Given the description of an element on the screen output the (x, y) to click on. 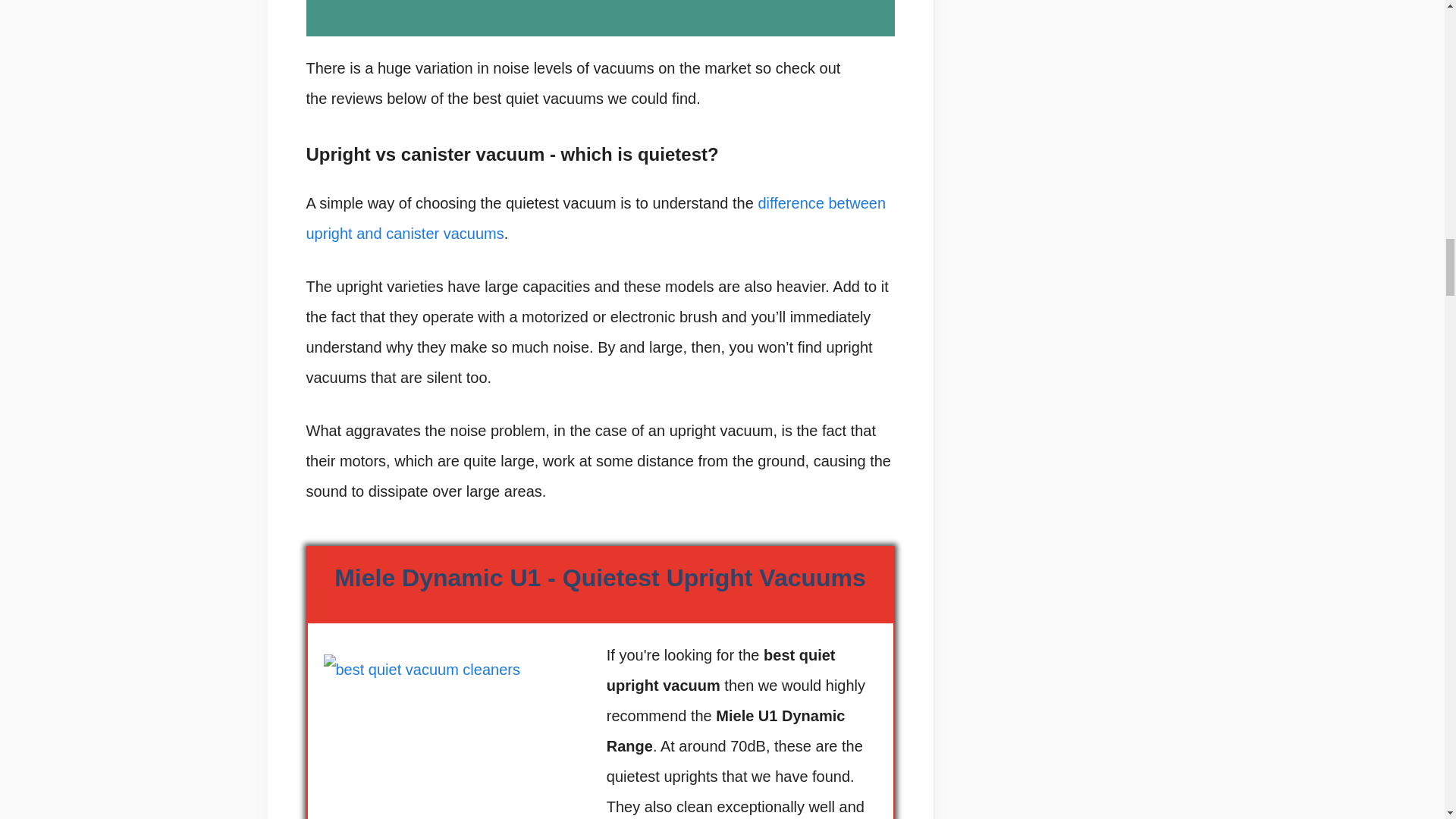
difference between upright and canister vacuums (595, 217)
